Given the description of an element on the screen output the (x, y) to click on. 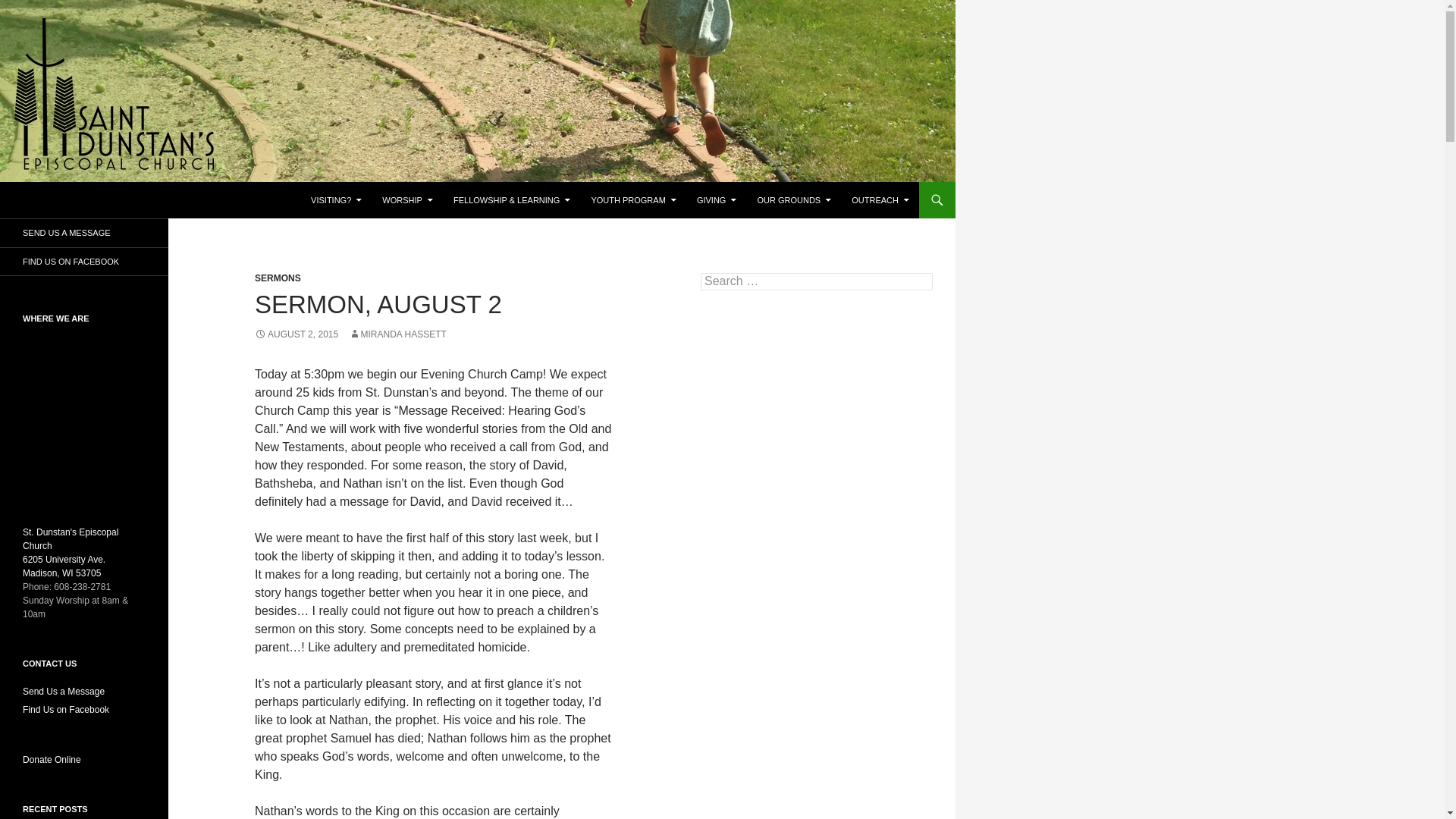
St. Dunstan's Episcopal Church (125, 199)
VISITING? (336, 199)
WORSHIP (407, 199)
